Given the description of an element on the screen output the (x, y) to click on. 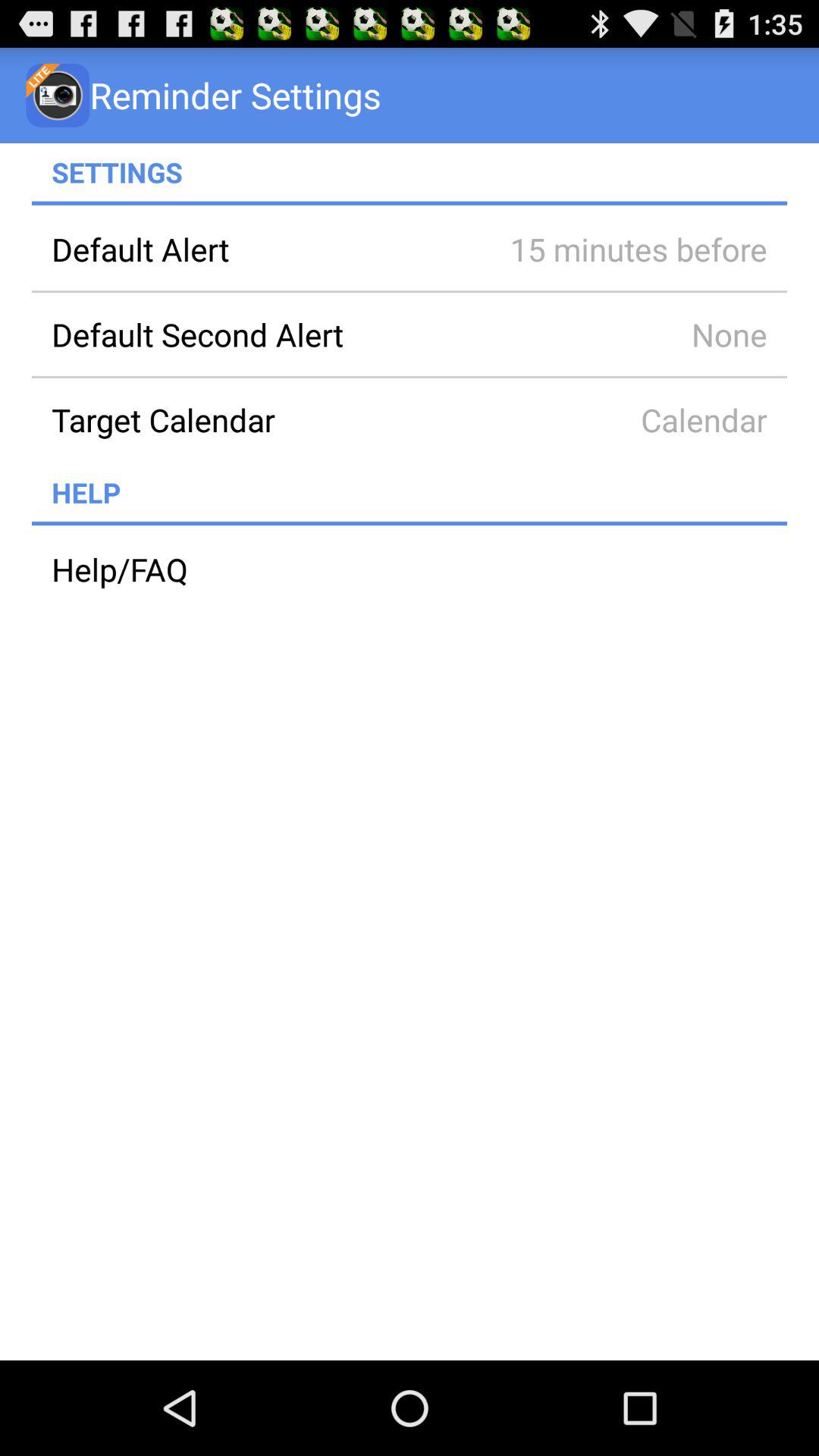
turn off icon below the settings (409, 203)
